Given the description of an element on the screen output the (x, y) to click on. 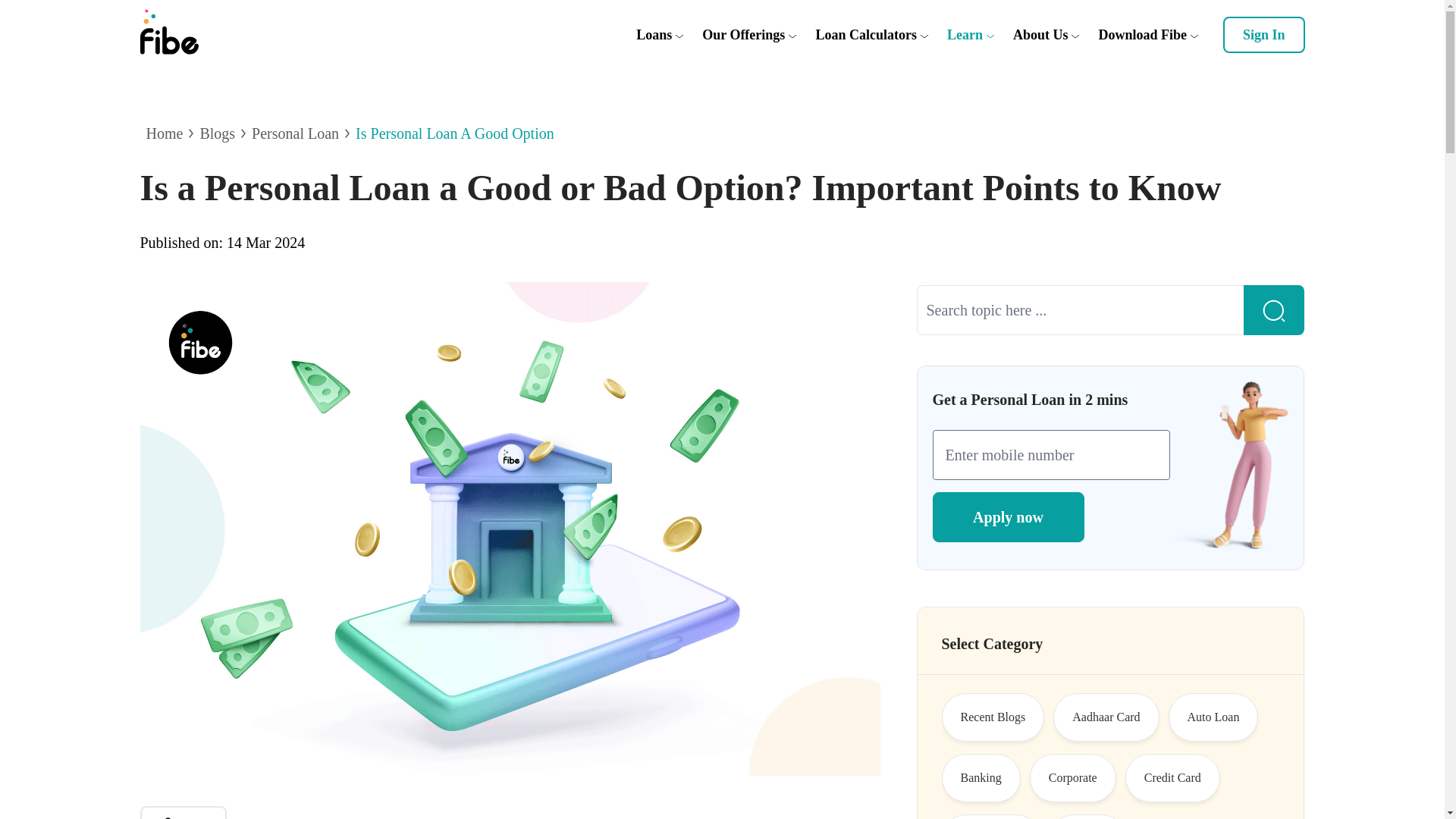
Our Offerings (742, 34)
Loan Calculators (866, 34)
Download Fibe (1141, 34)
About Us (1040, 34)
Personal Loan (295, 133)
Sign In (1263, 34)
Home (164, 133)
Blogs (217, 133)
